Given the description of an element on the screen output the (x, y) to click on. 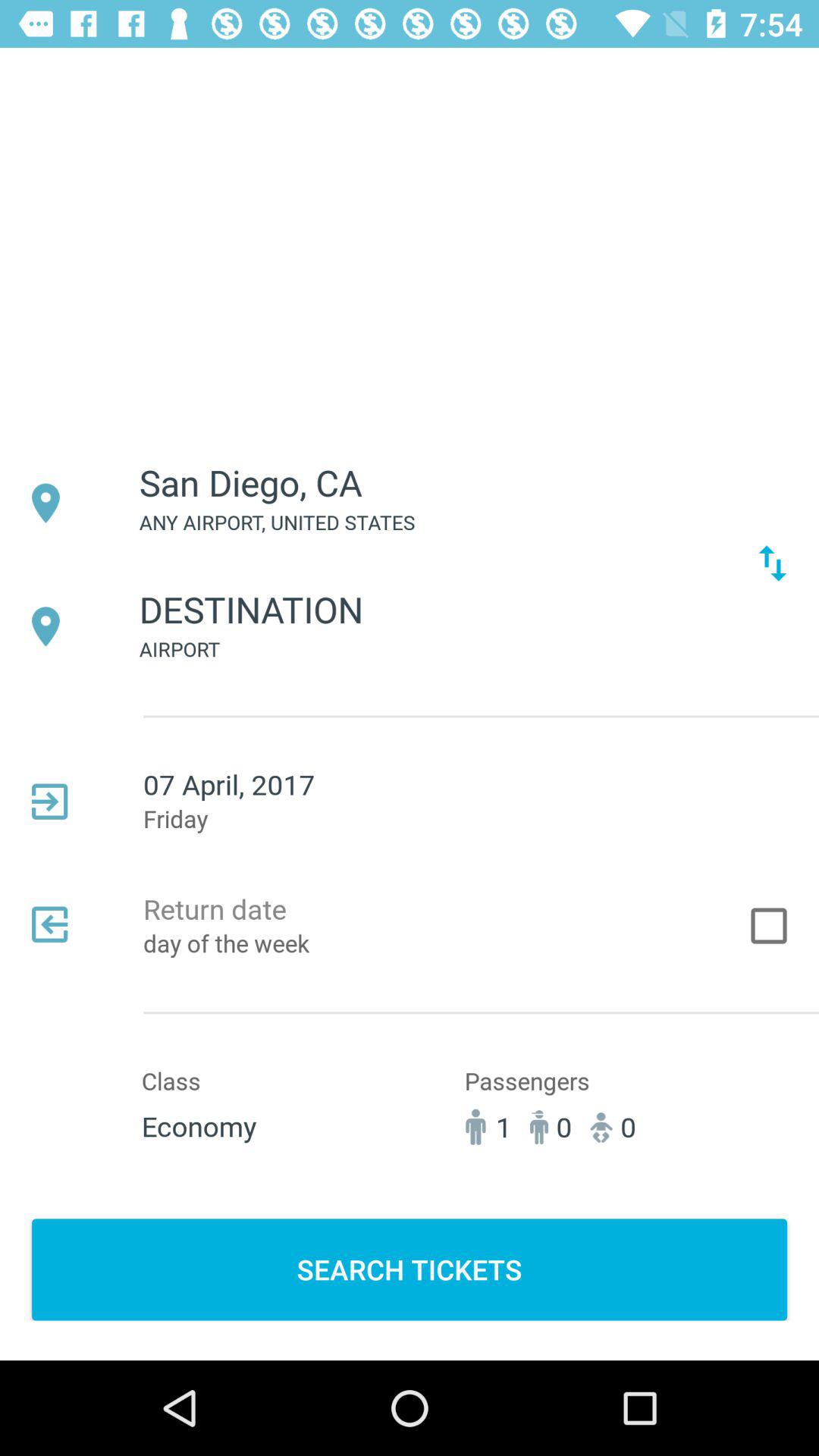
click the button above the checkbox on the web page (772, 563)
click on location icon left to san diego ca (45, 502)
click on the icon beside destination (45, 626)
